Given the description of an element on the screen output the (x, y) to click on. 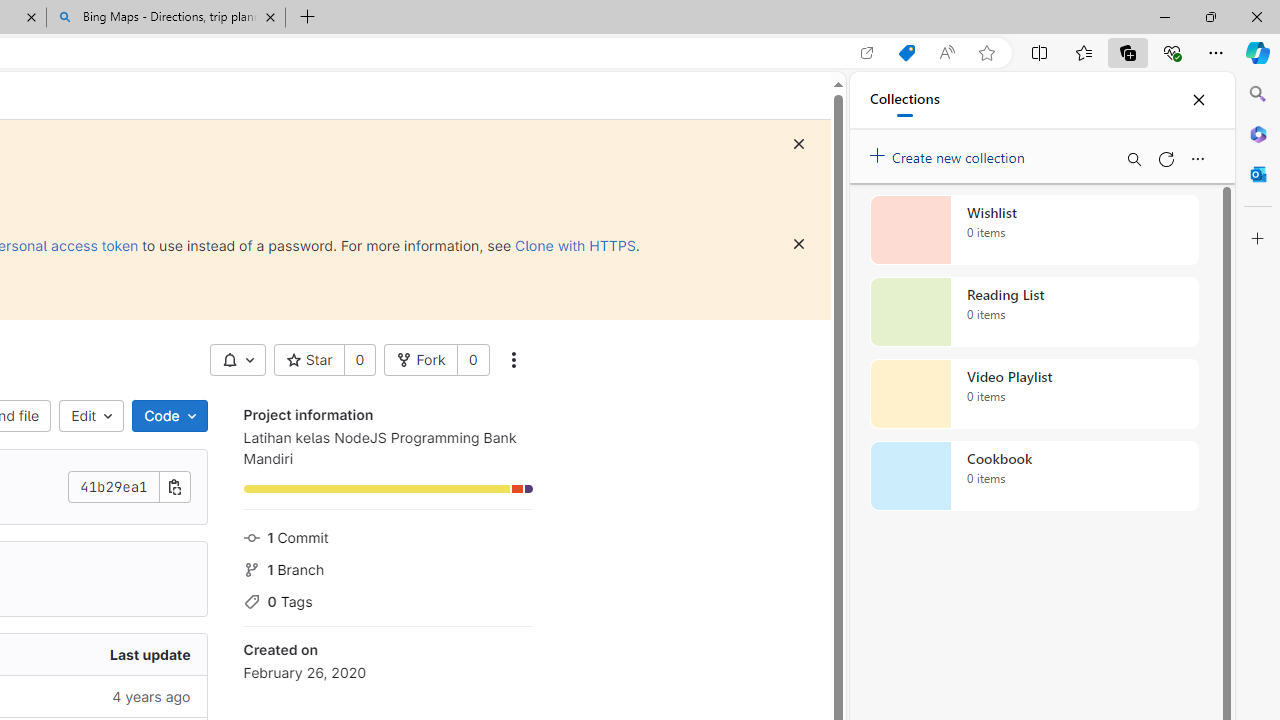
More options menu (1197, 158)
0 (472, 359)
Wishlist collection, 0 items (1034, 229)
Class: s16 icon gl-mr-3 gl-text-gray-500 (251, 601)
Cookbook collection, 0 items (1034, 475)
Fork (421, 359)
1 Branch (387, 567)
Reading List collection, 0 items (1034, 312)
